Given the description of an element on the screen output the (x, y) to click on. 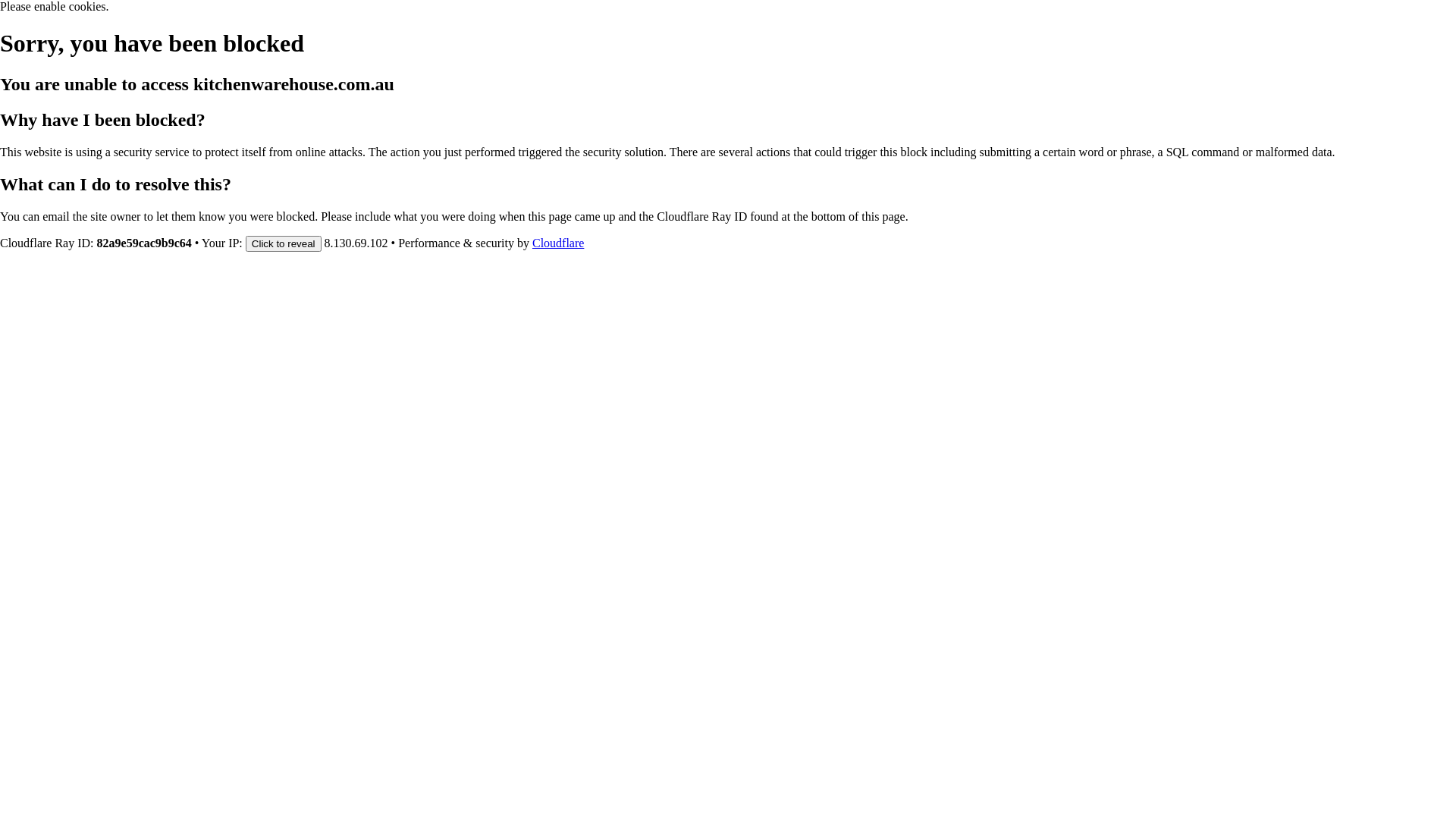
Click to reveal Element type: text (283, 243)
Cloudflare Element type: text (557, 242)
